Given the description of an element on the screen output the (x, y) to click on. 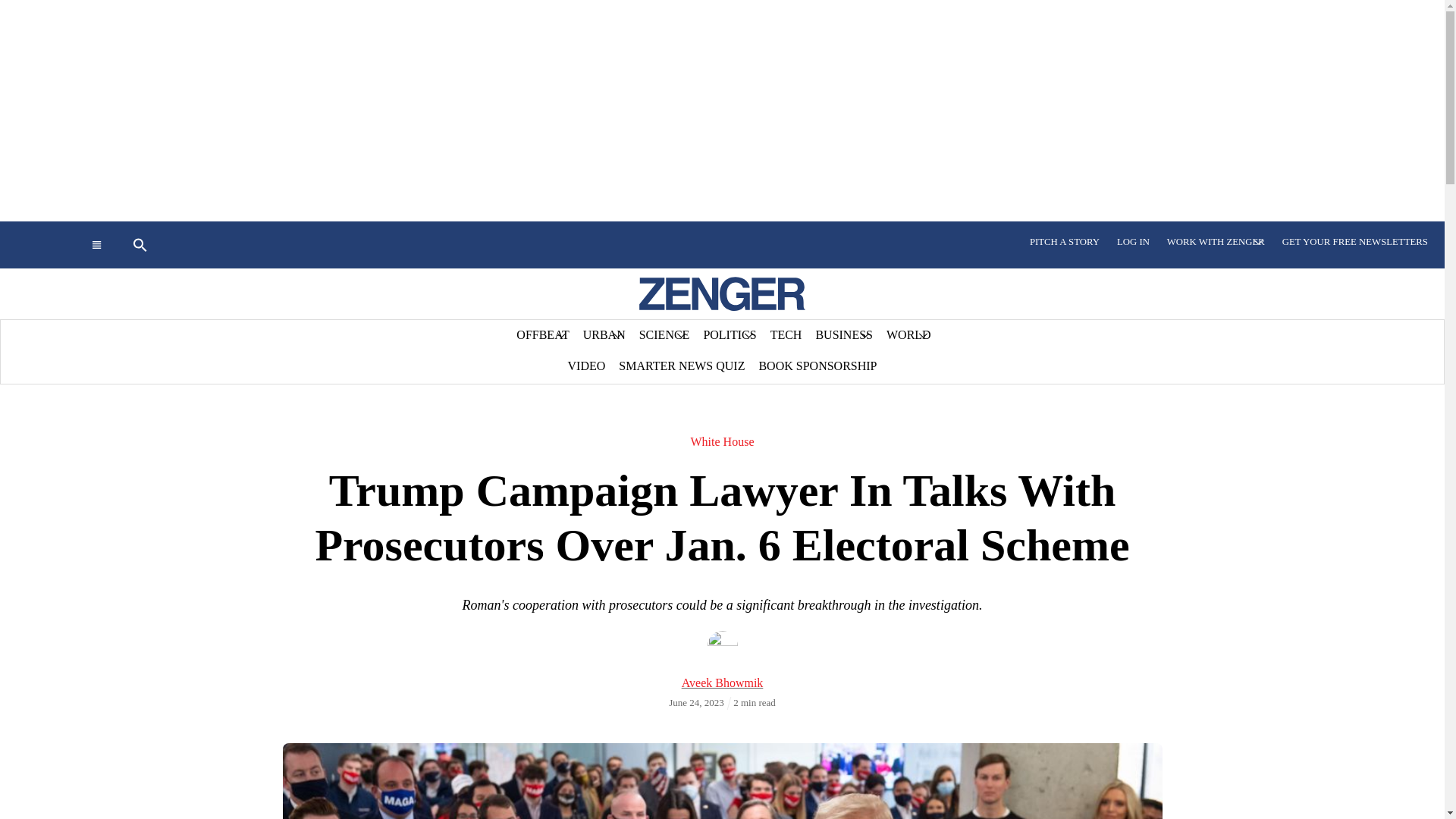
TECH (785, 335)
WORLD (908, 335)
LOG IN (1132, 242)
WORK WITH ZENGER (1215, 242)
Zenger-Logo2023 (722, 293)
URBAN (603, 335)
BUSINESS (843, 335)
